Given the description of an element on the screen output the (x, y) to click on. 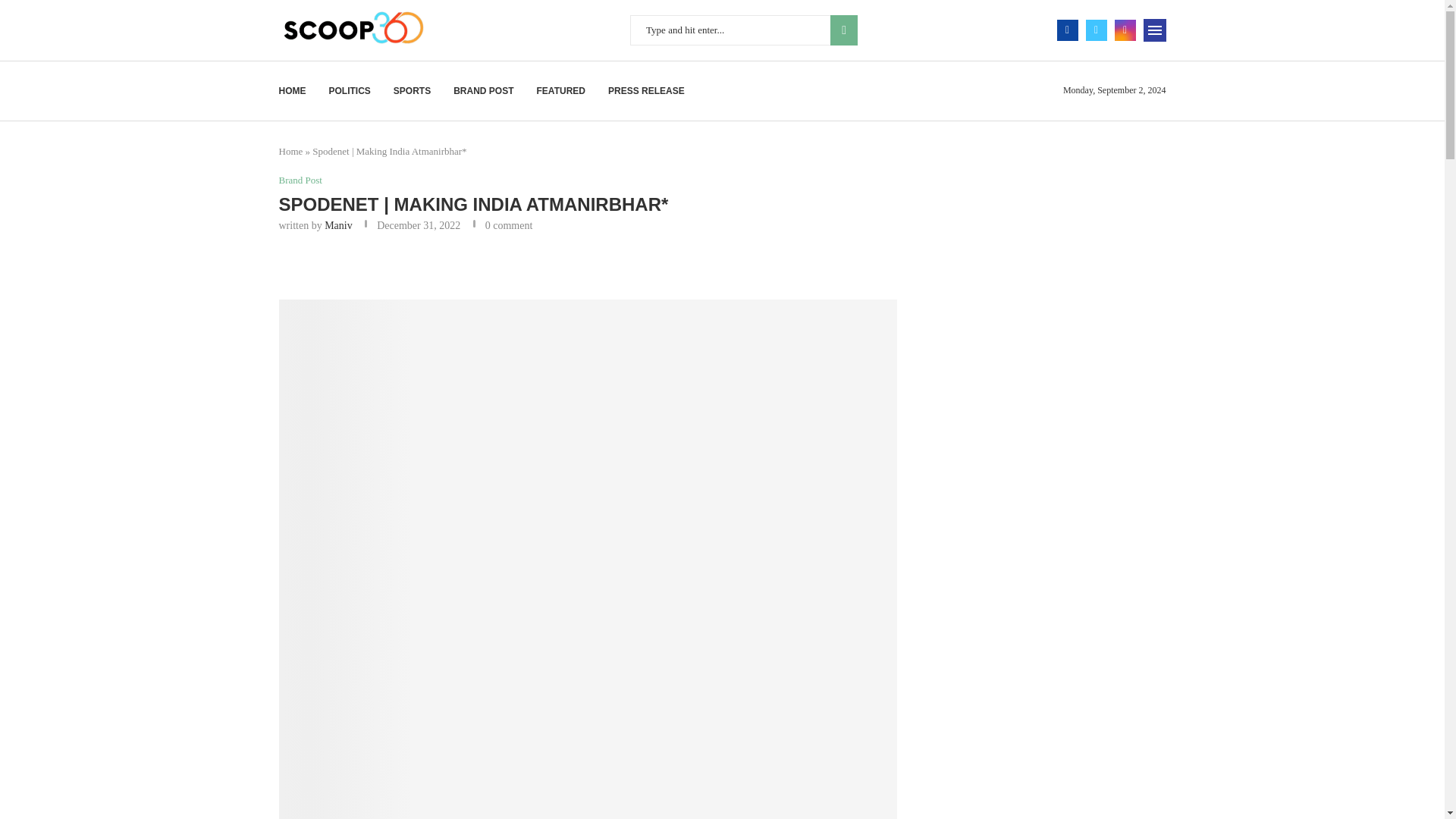
POLITICS (350, 90)
Search (843, 30)
FEATURED (561, 90)
Brand Post (300, 180)
PRESS RELEASE (646, 90)
BRAND POST (482, 90)
Home (290, 151)
Search (1117, 7)
